Given the description of an element on the screen output the (x, y) to click on. 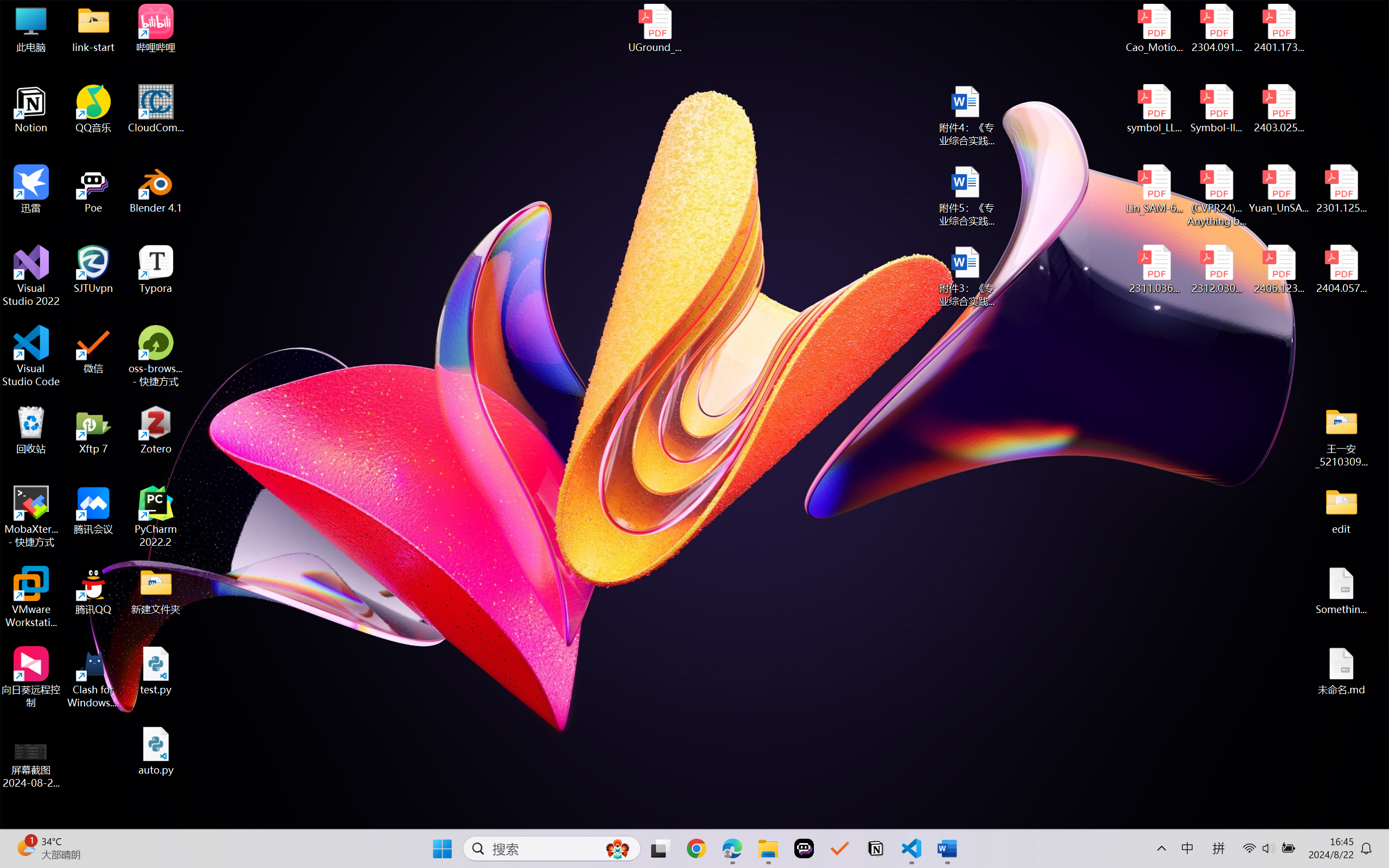
2404.05719v1.pdf (1340, 269)
VMware Workstation Pro (31, 597)
(CVPR24)Matching Anything by Segmenting Anything.pdf (1216, 195)
test.py (156, 670)
Visual Studio 2022 (31, 276)
edit (1340, 510)
Typora (156, 269)
